Given the description of an element on the screen output the (x, y) to click on. 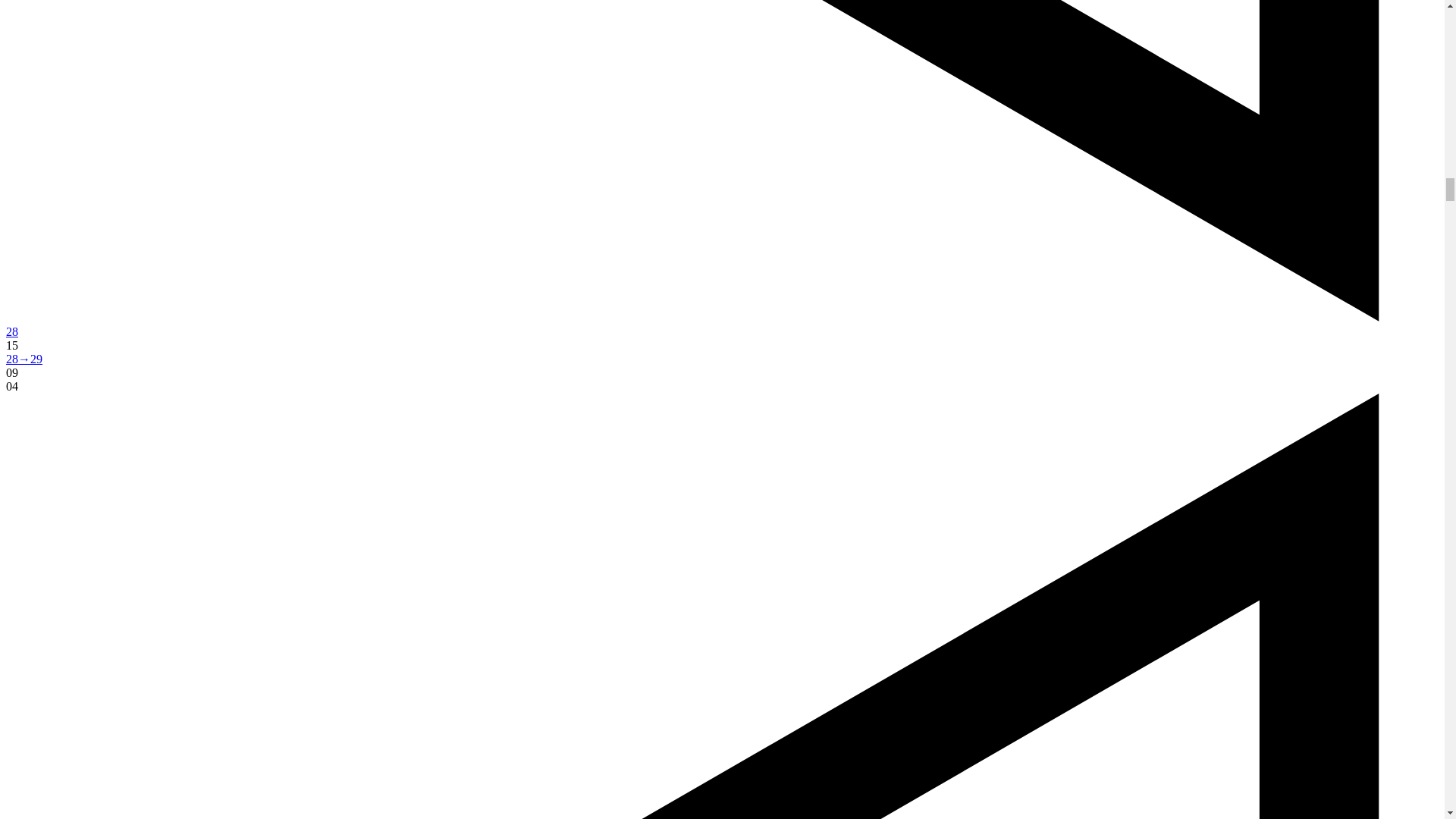
28 (11, 331)
